Given the description of an element on the screen output the (x, y) to click on. 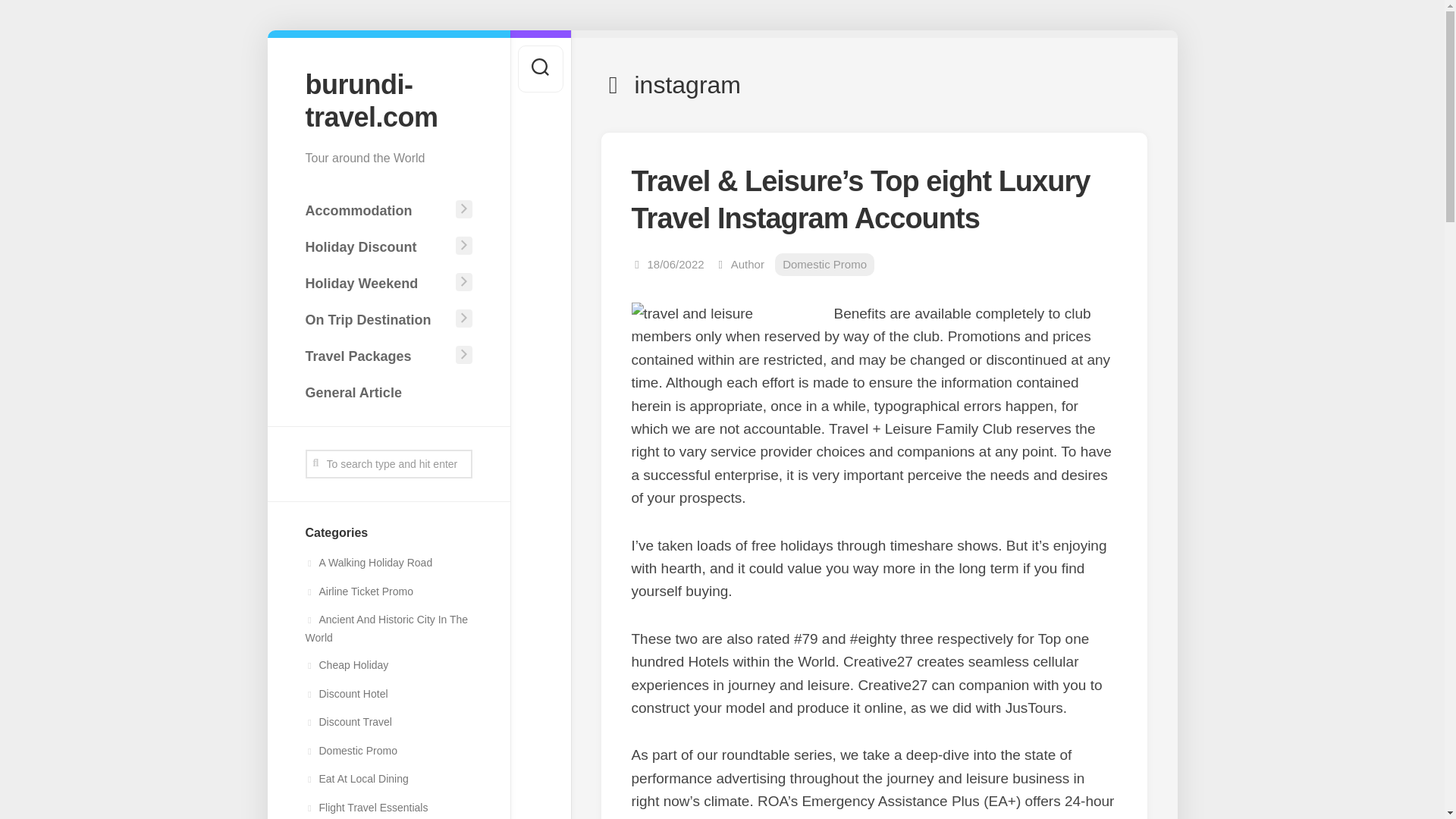
A Walking Holiday Road (368, 562)
Discount Hotel (345, 693)
Discount Travel (347, 721)
Holiday Weekend (376, 283)
On Trip Destination (376, 319)
Cheap Holiday (346, 664)
To search type and hit enter (387, 463)
Ancient And Historic City In The World (385, 628)
Travel Packages (376, 356)
Posts by Author (747, 264)
burundi-travel.com (387, 100)
Accommodation (376, 210)
Holiday Discount (376, 246)
To search type and hit enter (387, 463)
Airline Ticket Promo (358, 591)
